Given the description of an element on the screen output the (x, y) to click on. 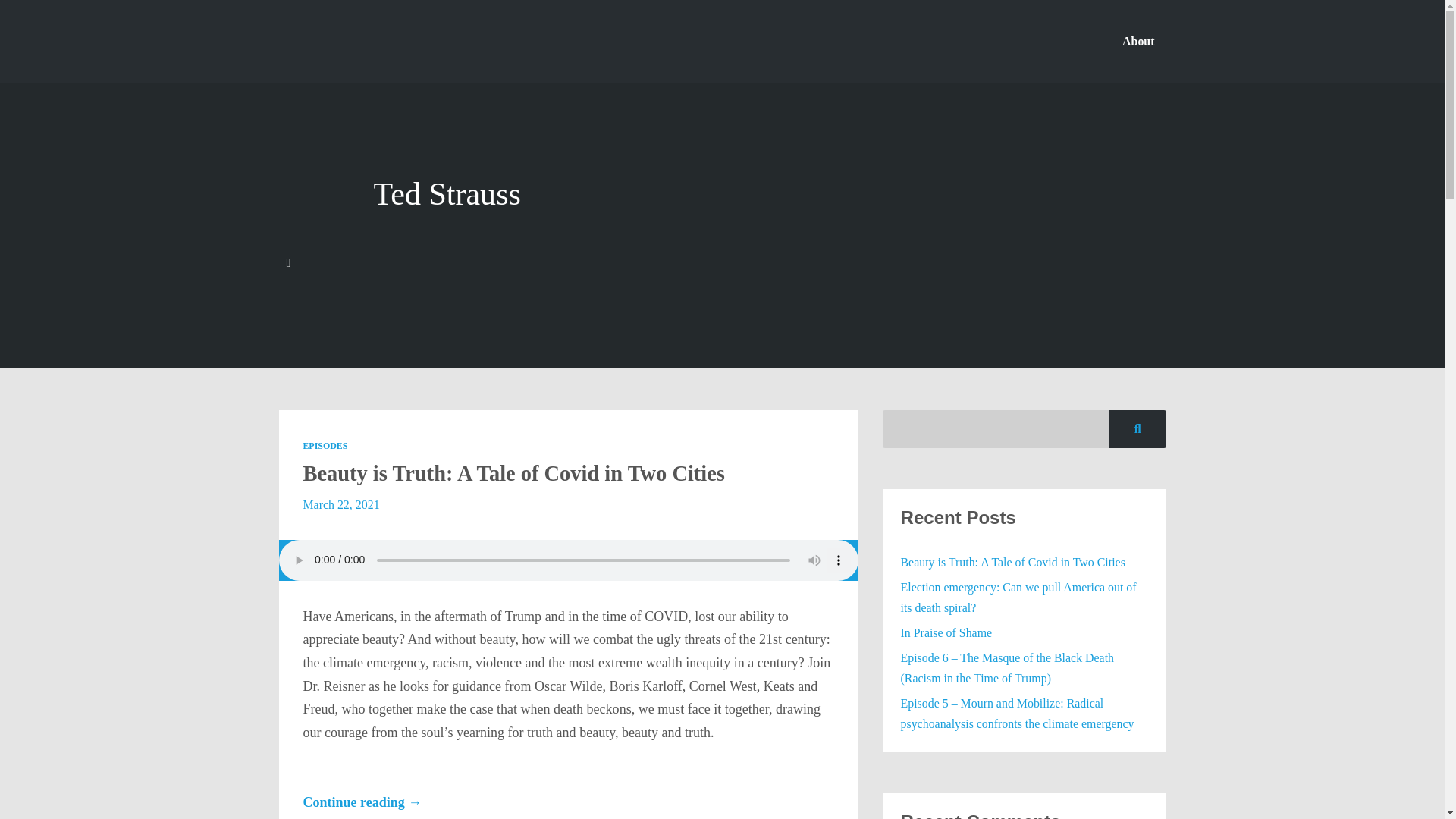
Permalink to Beauty is Truth: A Tale of Covid in Two Cities (512, 473)
March 22, 2021 (340, 504)
In Praise of Shame (946, 632)
Beauty is Truth: A Tale of Covid in Two Cities (512, 473)
EPISODES (324, 445)
Beauty is Truth: A Tale of Covid in Two Cities (1013, 561)
